Given the description of an element on the screen output the (x, y) to click on. 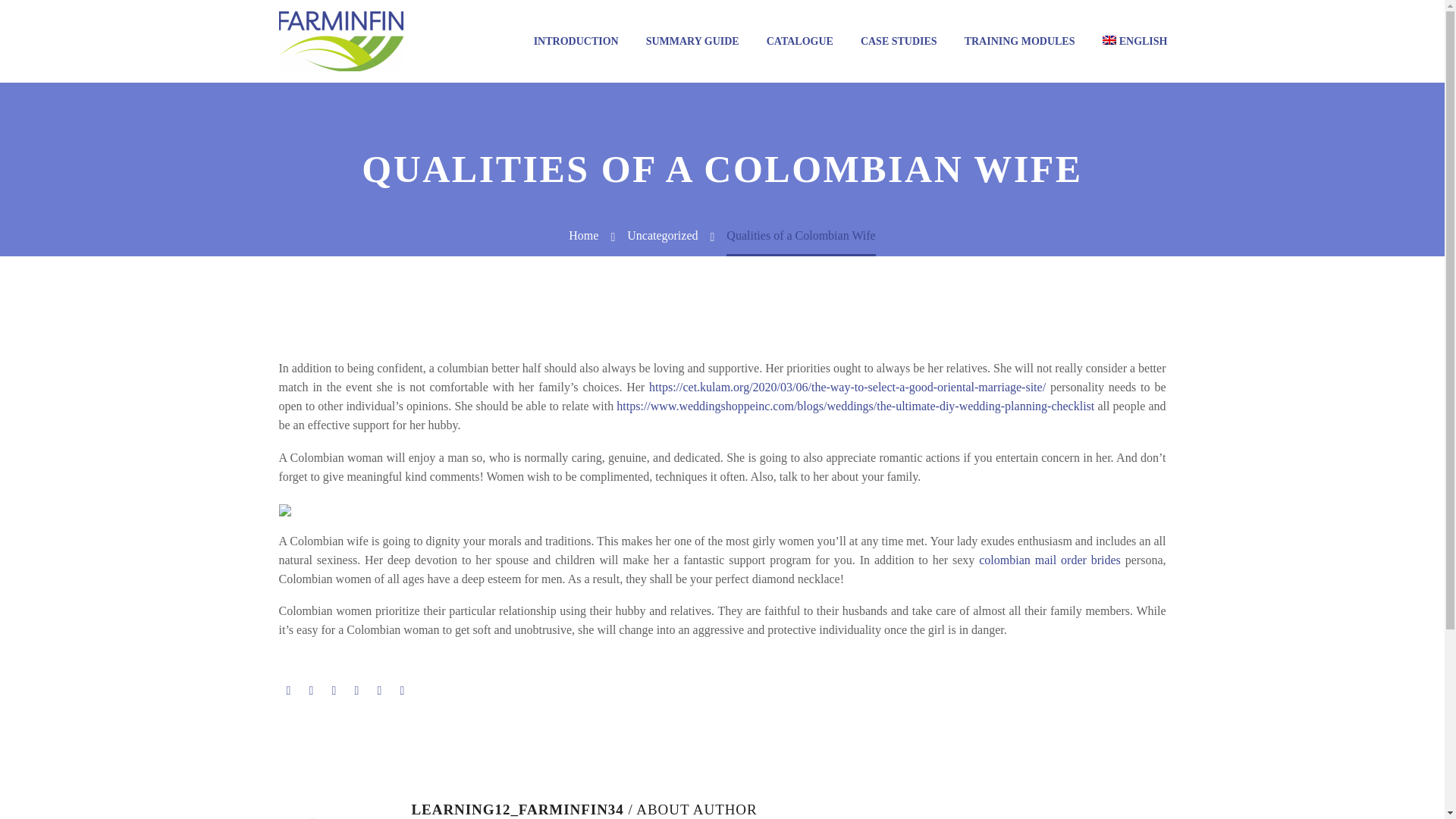
Twitter (310, 690)
TRAINING MODULES (1019, 40)
Facebook (288, 690)
INTRODUCTION (576, 40)
Home (583, 235)
ENGLISH (1133, 40)
SUMMARY GUIDE (692, 40)
Pinterest (333, 690)
LinkedIn (378, 690)
CATALOGUE (799, 40)
Reddit (401, 690)
CASE STUDIES (898, 40)
colombian mail order brides (1049, 559)
English (1133, 40)
Uncategorized (662, 235)
